Given the description of an element on the screen output the (x, y) to click on. 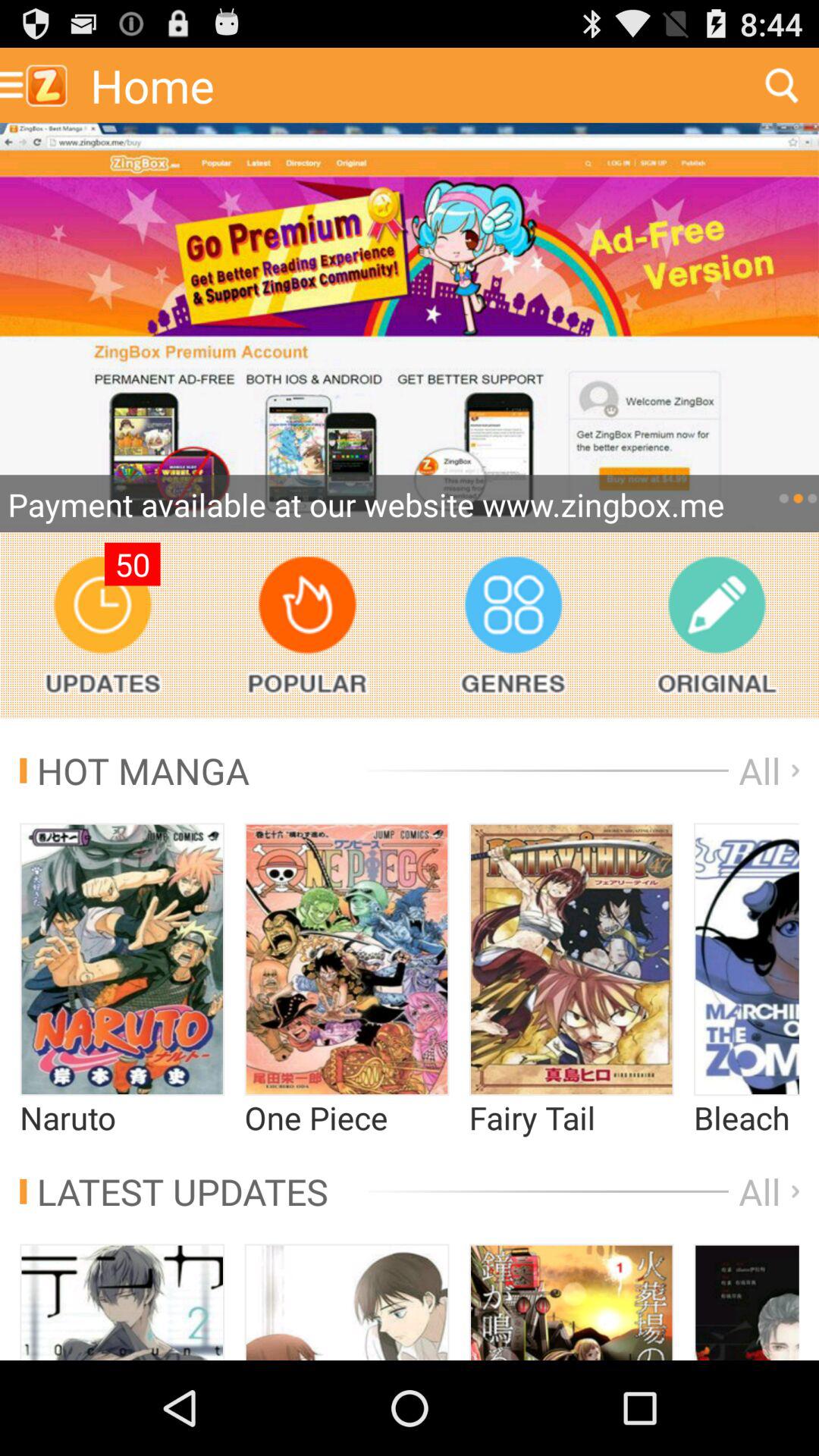
open manga option (121, 958)
